Given the description of an element on the screen output the (x, y) to click on. 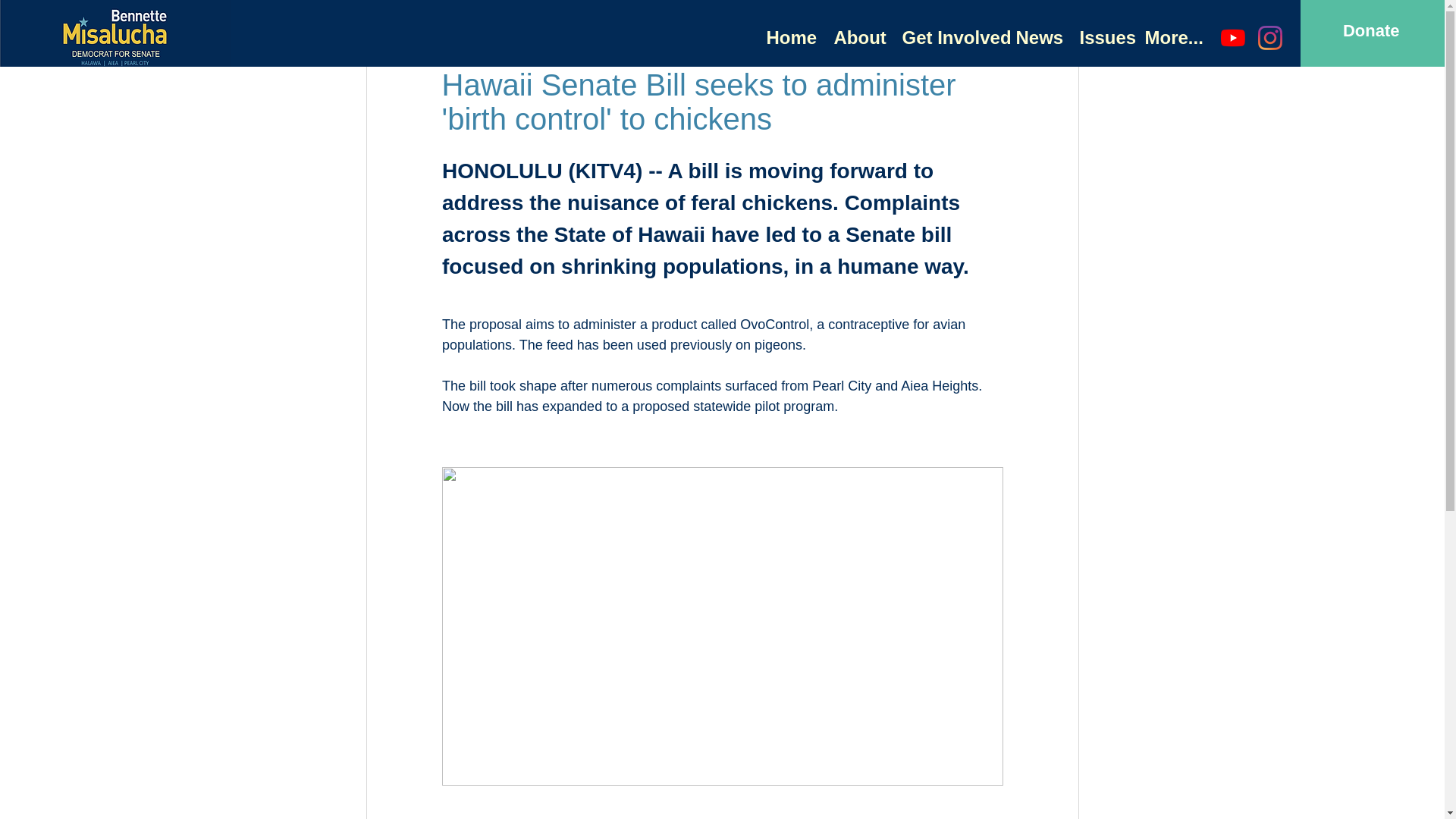
About (855, 37)
Issues (1099, 37)
Home (788, 37)
Get Involved (946, 37)
Donate (1371, 30)
News (1035, 37)
